Given the description of an element on the screen output the (x, y) to click on. 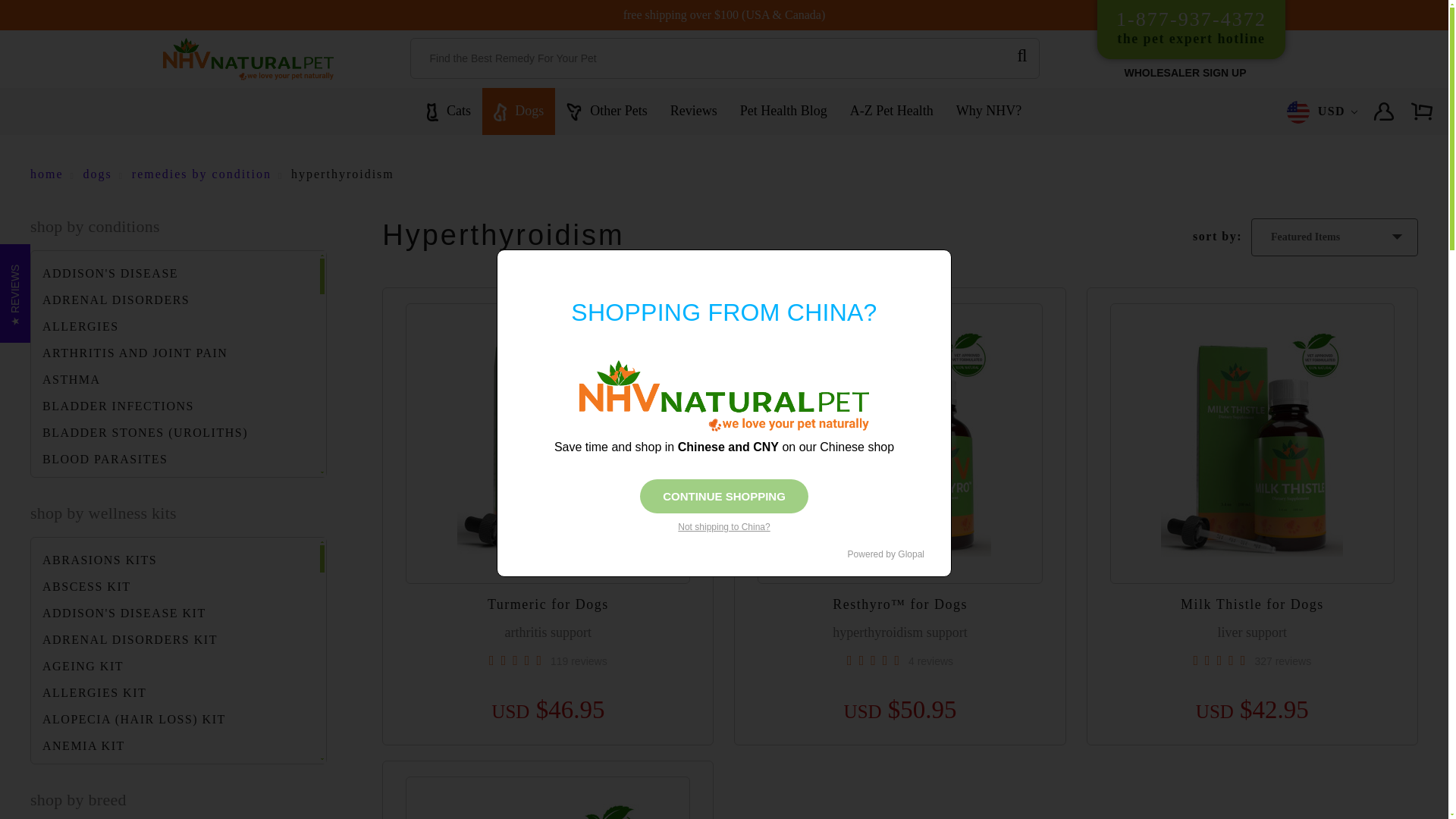
Blood Parasites (174, 458)
NHV Natural Pet (248, 58)
Addison's Disease (174, 273)
Bladder Infections (174, 405)
Adrenal Disorders (1191, 29)
Arthritis and Joint Pain (174, 300)
Allergies (174, 353)
Burns (174, 326)
Asthma (174, 538)
